Given the description of an element on the screen output the (x, y) to click on. 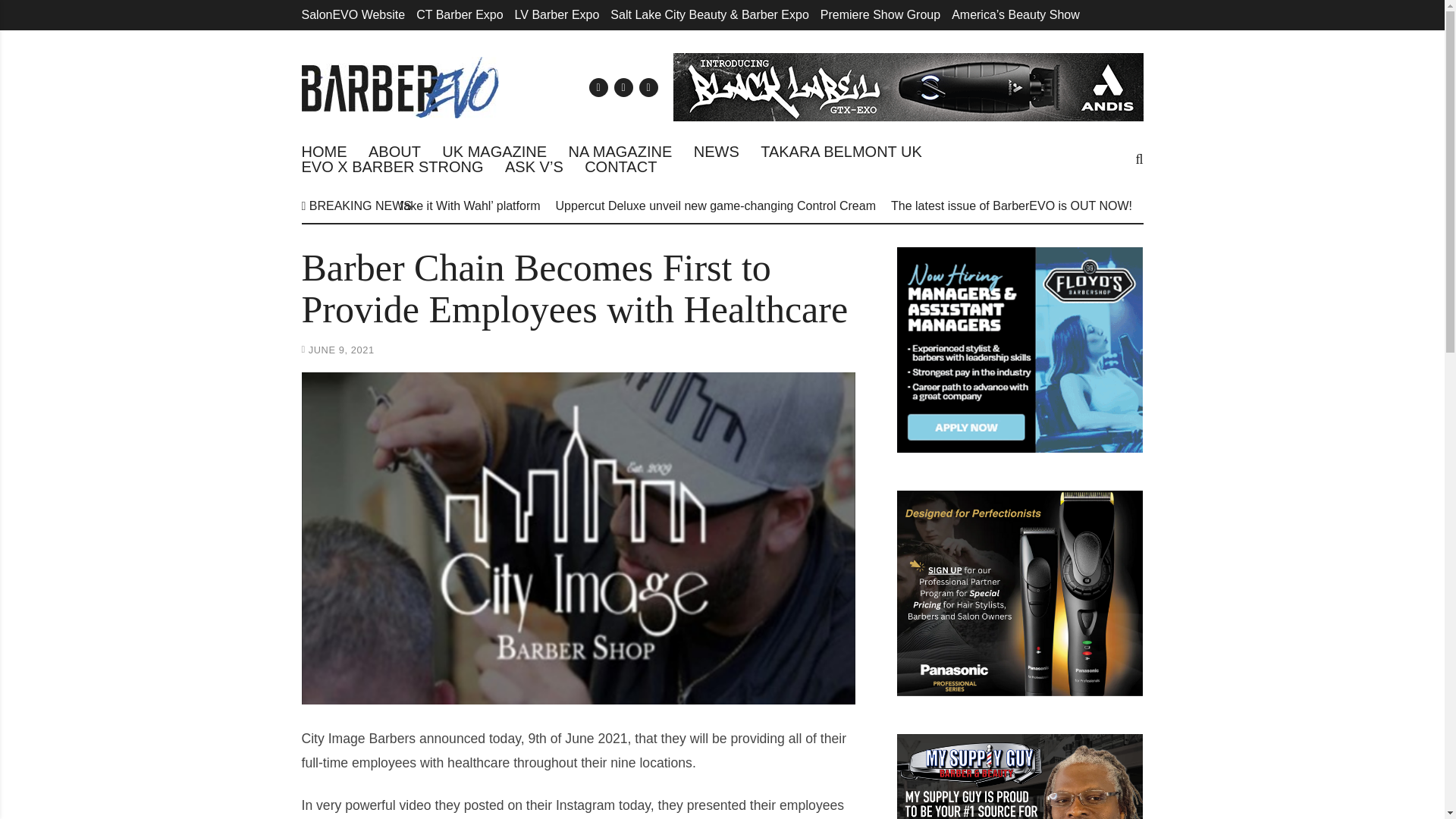
TAKARA BELMONT UK (840, 151)
The latest issue of BarberEVO is OUT NOW! (1011, 205)
EVO X BARBER STRONG (392, 166)
Premiere Show Group (880, 14)
CONTACT (620, 166)
The latest issue of BarberEVO is OUT NOW! (1011, 205)
BarberEVO Magazine (400, 86)
Email (597, 86)
Uppercut Deluxe unveil new game-changing Control Cream (715, 205)
ABOUT (394, 151)
The best hair journeys start with you (1244, 205)
HOME (324, 151)
The best hair journeys start with you (1244, 205)
Instagram (648, 86)
Facebook (623, 86)
